Given the description of an element on the screen output the (x, y) to click on. 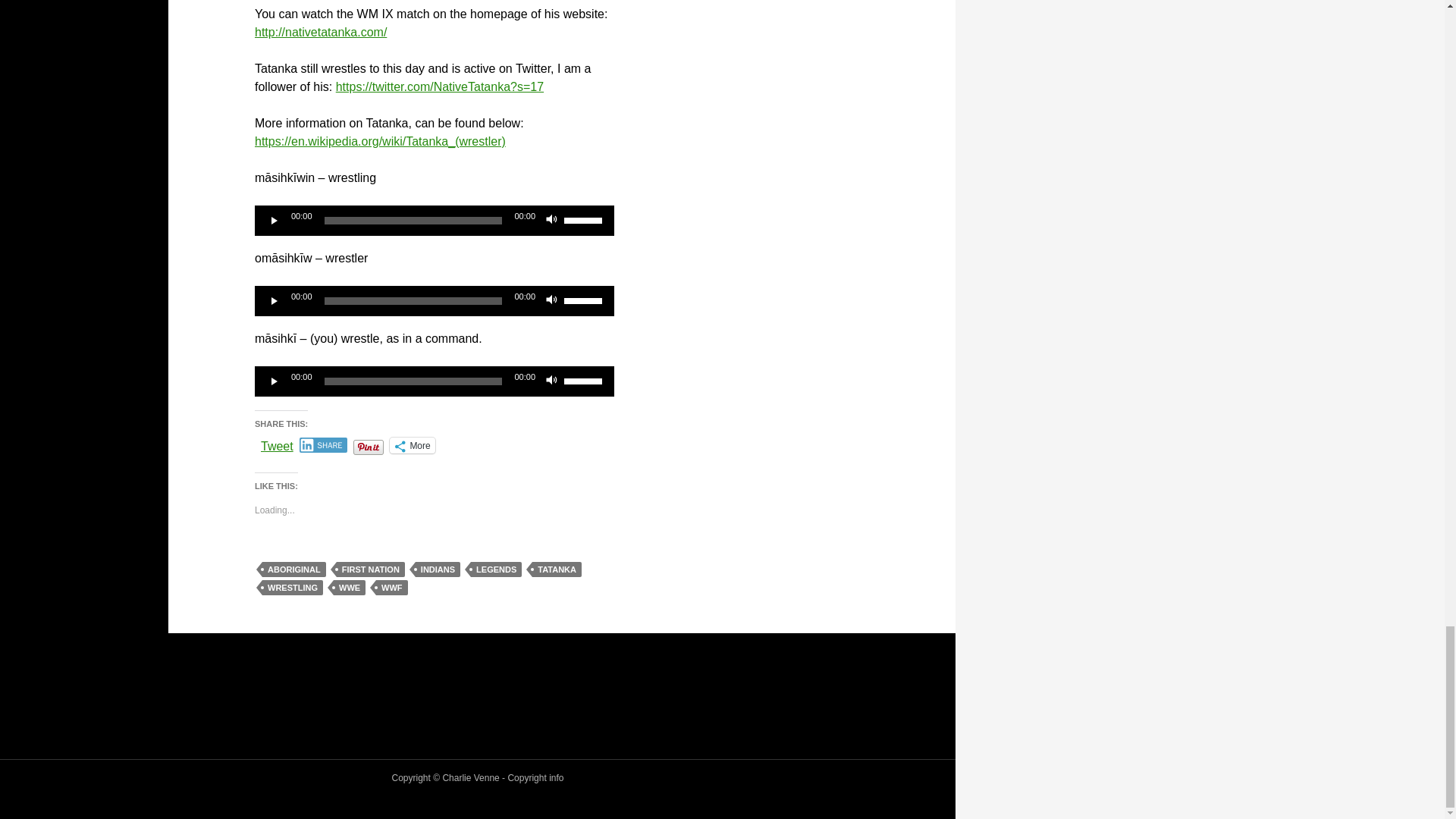
Mute (551, 220)
Play (274, 300)
Play (274, 220)
